Given the description of an element on the screen output the (x, y) to click on. 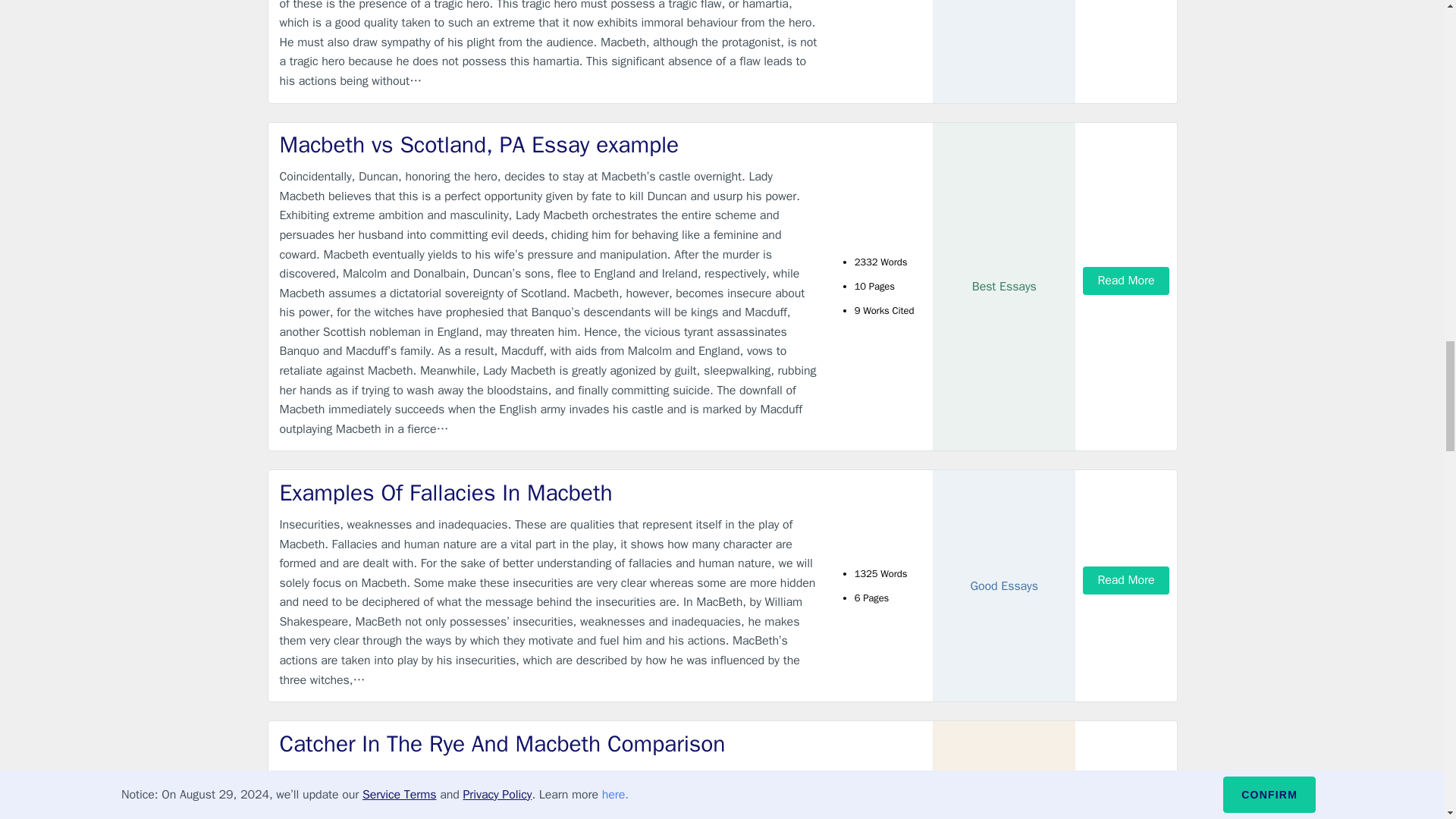
Macbeth vs Scotland, PA Essay example (548, 144)
Read More (1126, 580)
Examples Of Fallacies In Macbeth (548, 492)
Catcher In The Rye And Macbeth Comparison (548, 744)
Read More (1126, 280)
